Given the description of an element on the screen output the (x, y) to click on. 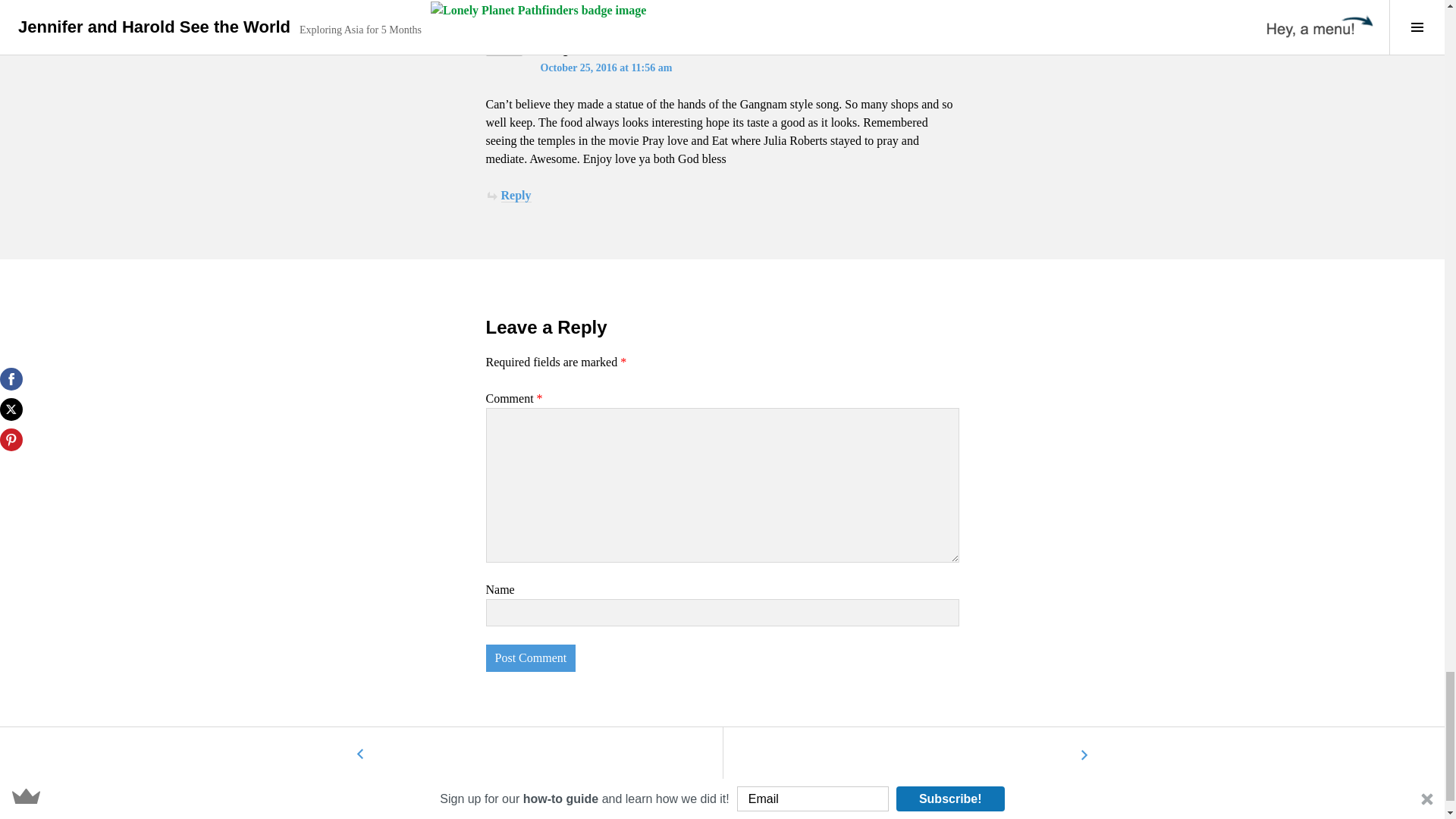
Post Comment (529, 657)
Reply (515, 195)
October 25, 2016 at 11:56 am (605, 67)
Post Comment (529, 657)
 Seoul City Center (361, 754)
Reply (515, 0)
